Given the description of an element on the screen output the (x, y) to click on. 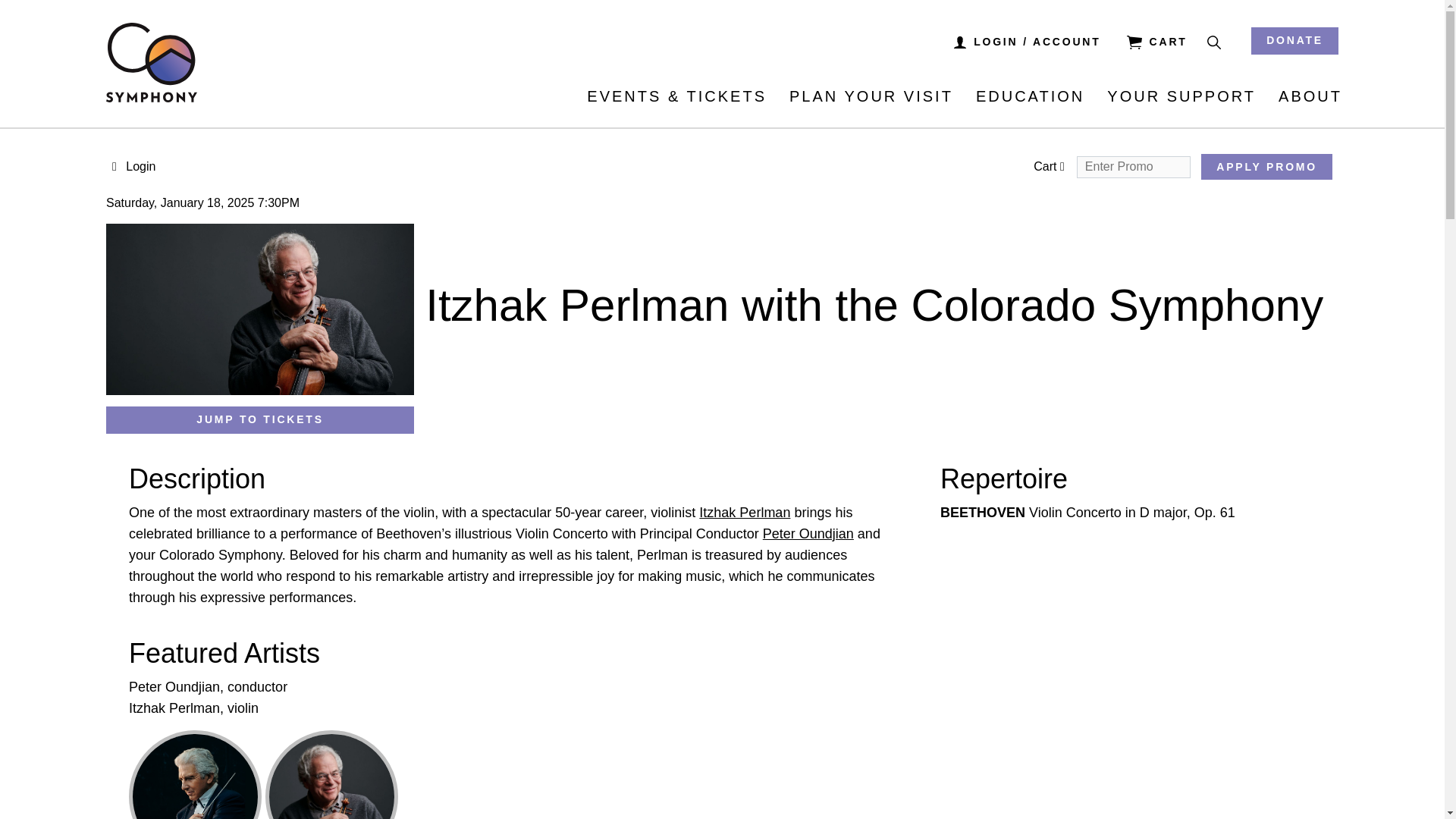
EDUCATION (1029, 96)
CART (1157, 41)
Violinist Itzhak Perlman (330, 774)
Principal Conductor Peter Oundjian (195, 774)
ABOUT (1310, 96)
DONATE (1294, 40)
YOUR SUPPORT (1181, 96)
PLAN YOUR VISIT (870, 96)
